Given the description of an element on the screen output the (x, y) to click on. 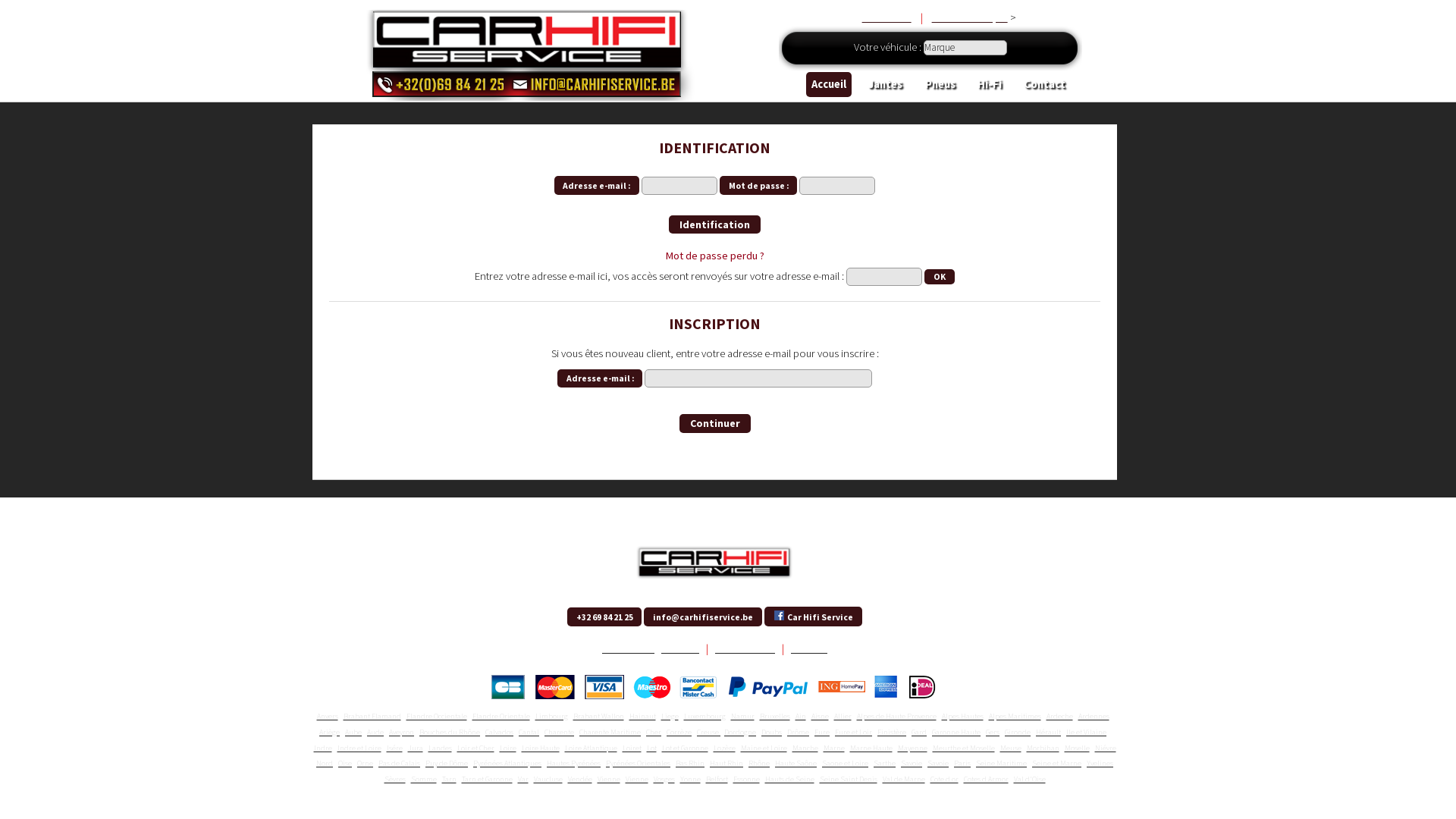
+32 69 84 21 25 Element type: text (604, 616)
Somme Element type: text (423, 779)
Pneus Element type: text (939, 84)
Moselle Element type: text (1076, 748)
Tarn et Garonne Element type: text (486, 779)
Bas Rhin Element type: text (689, 763)
Liege Element type: text (669, 716)
Seine Maritime Element type: text (1000, 763)
Vienne Element type: text (608, 779)
Yvelines Element type: text (1099, 763)
Accueil Element type: text (829, 84)
Meurthe et Moselle Element type: text (963, 748)
Eure et Loir Element type: text (853, 732)
Pas de Calais Element type: text (399, 763)
Hainaut Element type: text (642, 716)
Cher Element type: text (653, 732)
Landes Element type: text (439, 748)
Aube Element type: text (353, 732)
Lot et Garonne Element type: text (684, 748)
Loiret Element type: text (630, 748)
Allier Element type: text (842, 716)
Identification Element type: text (714, 224)
Var Element type: text (522, 779)
Creuse Element type: text (708, 732)
Aisne Element type: text (819, 716)
Oise Element type: text (344, 763)
Loire Haute Element type: text (540, 748)
Orne Element type: text (365, 763)
Loire Element type: text (506, 748)
Essonne Element type: text (745, 779)
Vienne Element type: text (635, 779)
Aude Element type: text (375, 732)
Anvers Element type: text (327, 716)
Belfort Element type: text (716, 779)
Cantal Element type: text (528, 732)
Garonne Haute Element type: text (955, 732)
Loire Atlantique Element type: text (590, 748)
Luxembourg Element type: text (704, 716)
Ardennes Element type: text (1093, 716)
Val de Marne Element type: text (903, 779)
Aveyron Element type: text (401, 732)
Seine Saint Denis Element type: text (847, 779)
Dordogne Element type: text (740, 732)
Limbourg Element type: text (551, 716)
Gers Element type: text (992, 732)
Continuer Element type: text (714, 423)
Vosges Element type: text (663, 779)
S'identifier Element type: text (880, 17)
Gard Element type: text (918, 732)
Haut Rhin Element type: text (726, 763)
Alpes Hautes Element type: text (962, 716)
Hi-Fi Element type: text (989, 84)
Saone et Loire Element type: text (845, 763)
Cotes d Armor Element type: text (985, 779)
OK Element type: text (938, 277)
Charente Element type: text (559, 732)
Gironde Element type: text (1017, 732)
Contact Element type: text (808, 648)
Savoie Element type: text (937, 763)
Bruxelles Element type: text (774, 716)
Manche Element type: text (804, 748)
Calvados Element type: text (499, 732)
Marne Haute Element type: text (870, 748)
Loir et Cher Element type: text (474, 748)
Flandre Orientale Element type: text (500, 716)
Doubs Element type: text (771, 732)
Indre et Loire Element type: text (358, 748)
Ardeche Element type: text (1059, 716)
Alpes de Haute Provence Element type: text (896, 716)
Car Hifi Service Element type: text (813, 615)
Jantes Element type: text (885, 84)
Lot Element type: text (650, 748)
Indre Element type: text (322, 748)
Alpes Maritimes Element type: text (1014, 716)
Charente Maritime Element type: text (609, 732)
Eure Element type: text (821, 732)
Savoie Element type: text (911, 763)
Flandre Occientale Element type: text (436, 716)
Paris Element type: text (961, 763)
info@carhifiservice.be Element type: text (702, 616)
Ain Element type: text (799, 716)
Yonne Element type: text (689, 779)
Cote d or Element type: text (943, 779)
Mayenne Element type: text (912, 748)
Namur Element type: text (742, 716)
Contact Element type: text (1044, 84)
Tarn Element type: text (448, 779)
Sarthe Element type: text (884, 763)
Meuse Element type: text (1009, 748)
Vaucluse Element type: text (547, 779)
Ile et Vilaine Element type: text (1086, 732)
Val d'Oise Element type: text (1028, 779)
Marne Element type: text (833, 748)
Brabant Flamand Element type: text (371, 716)
Jura Element type: text (415, 748)
Seine et Marne Element type: text (1056, 763)
Nord Element type: text (324, 763)
Maine et Loire Element type: text (763, 748)
Hauts de Seine Element type: text (788, 779)
Brabant Wallon Element type: text (598, 716)
Morbihan Element type: text (1042, 748)
